Given the description of an element on the screen output the (x, y) to click on. 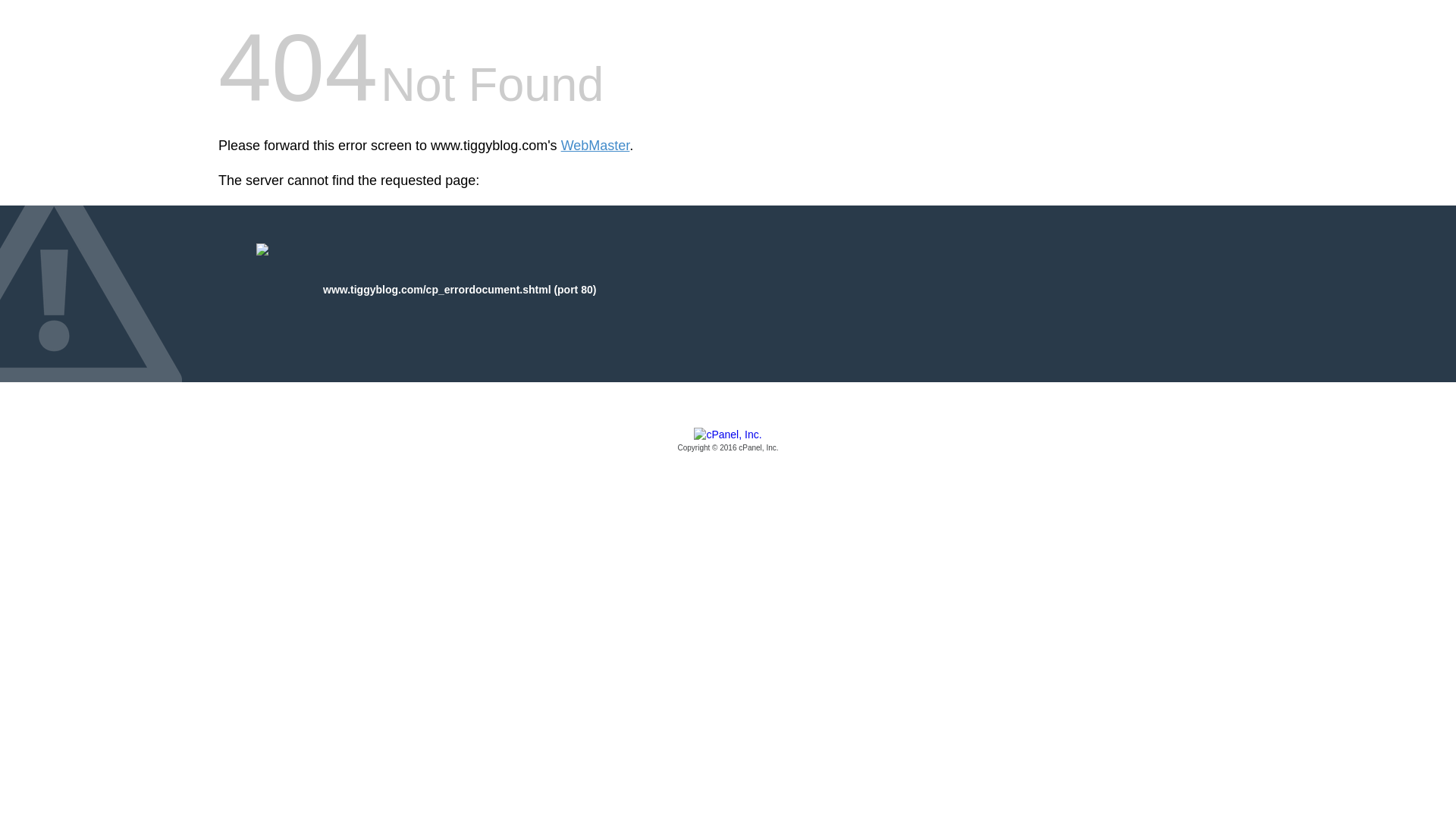
WebMaster (595, 145)
cPanel, Inc. (727, 440)
